Given the description of an element on the screen output the (x, y) to click on. 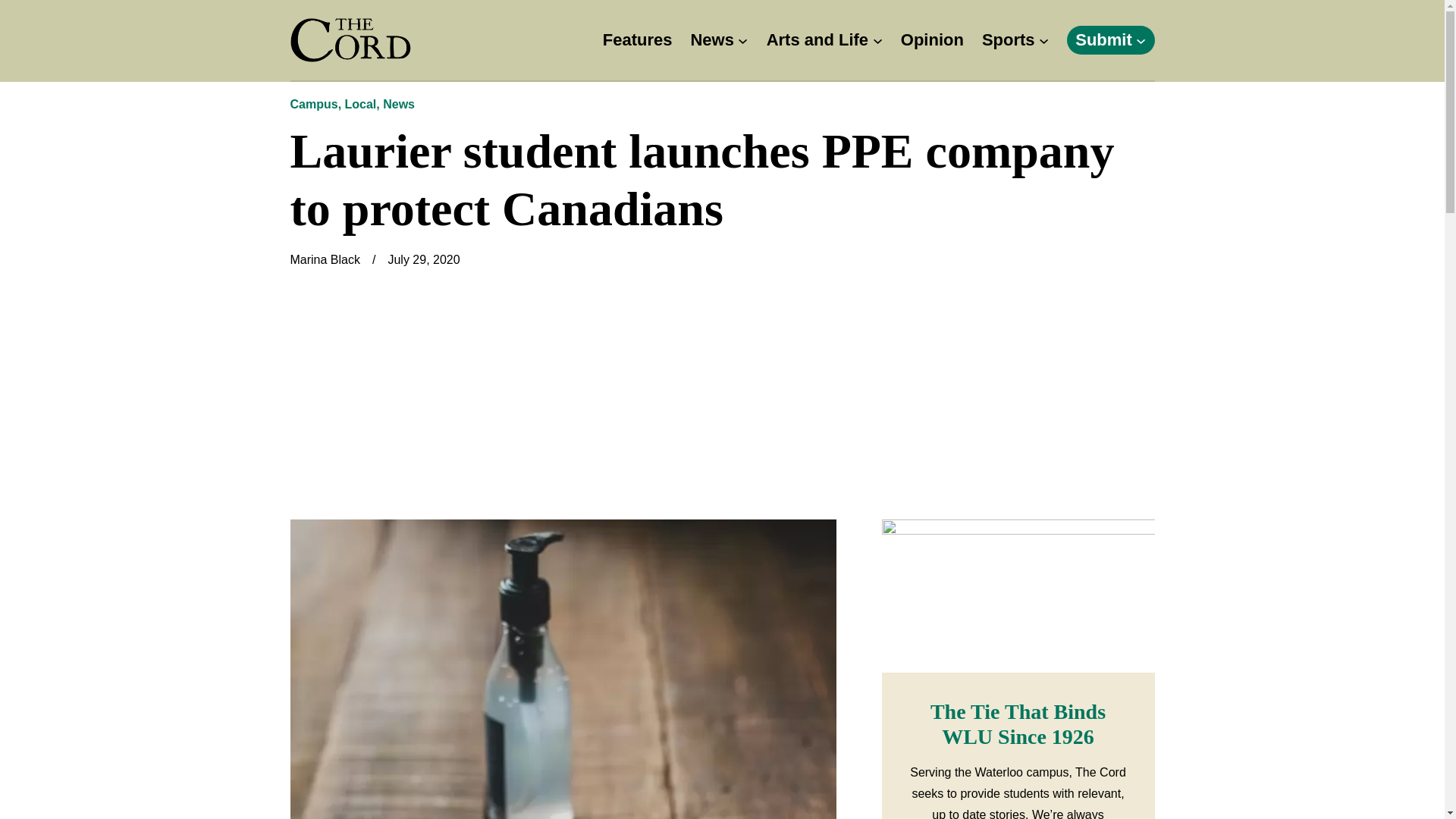
News (398, 103)
Sports (1008, 40)
Submit (1103, 40)
News (711, 40)
Arts and Life (817, 40)
Opinion (932, 40)
Campus (313, 103)
Features (637, 40)
Local (361, 103)
